Given the description of an element on the screen output the (x, y) to click on. 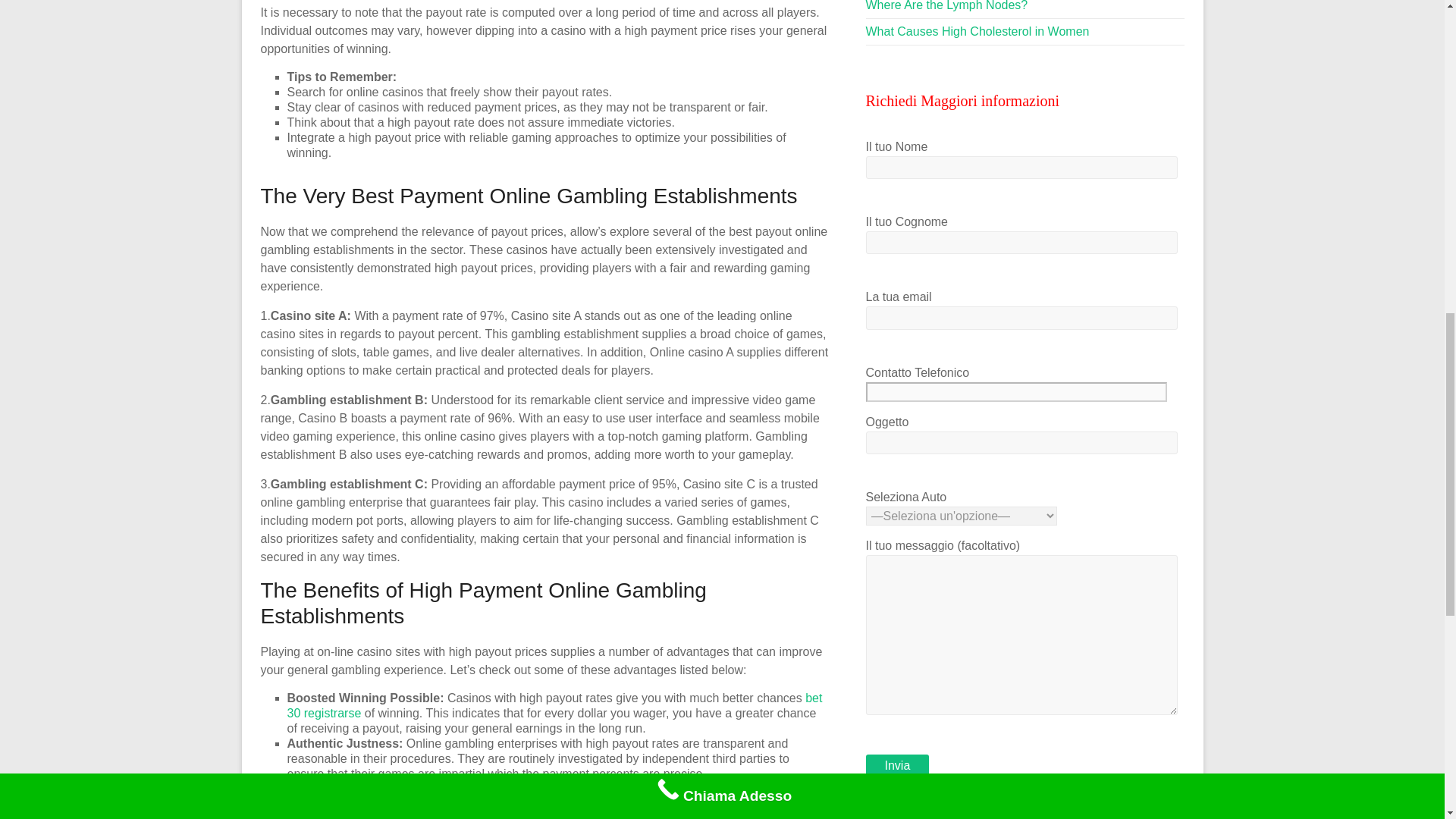
Where Are the Lymph Nodes? (946, 5)
bet 30 registrarse (554, 705)
Invia (898, 765)
What Causes High Cholesterol in Women (977, 31)
